Given the description of an element on the screen output the (x, y) to click on. 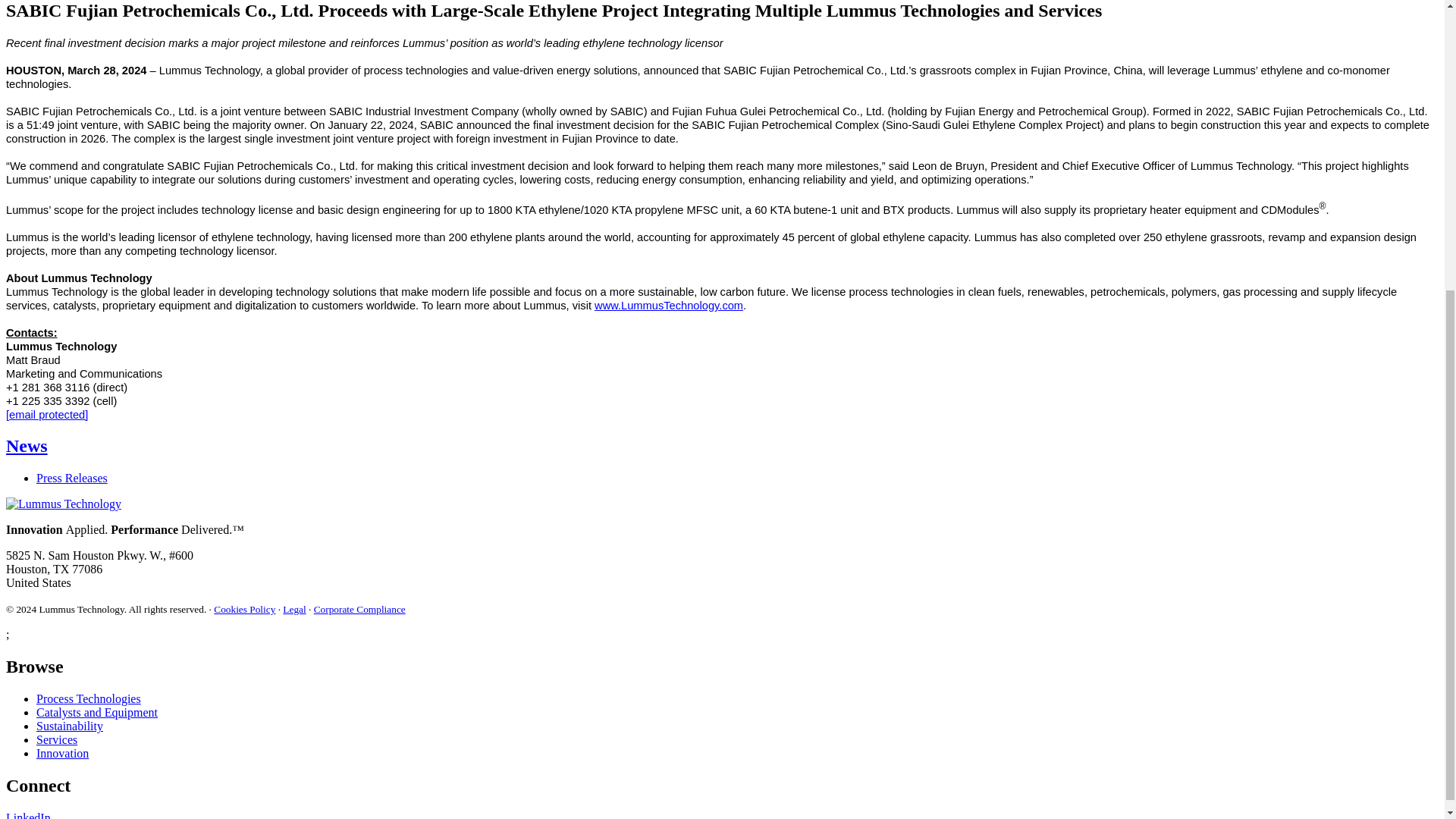
www.LummusTechnology.com (668, 305)
